Given the description of an element on the screen output the (x, y) to click on. 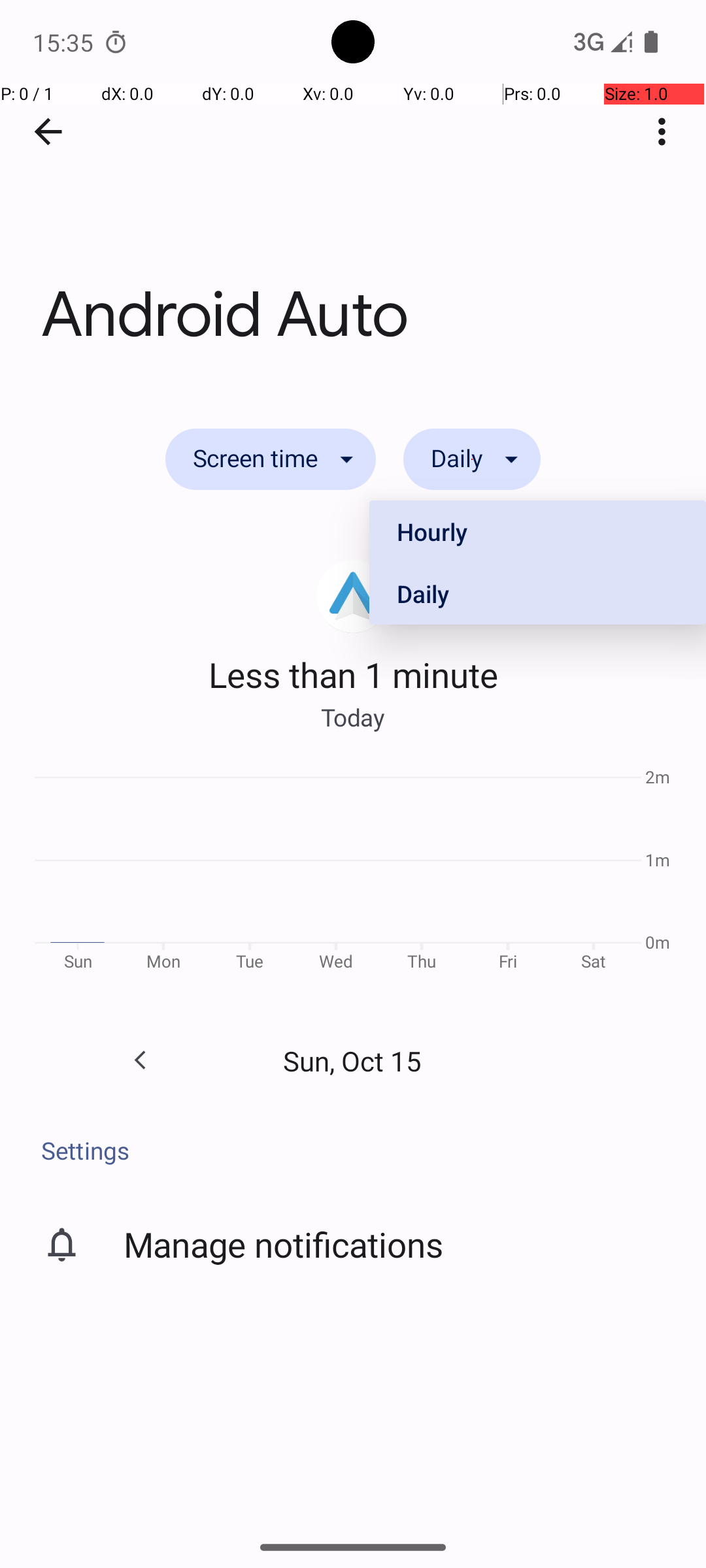
Hourly Element type: android.widget.TextView (537, 531)
